Given the description of an element on the screen output the (x, y) to click on. 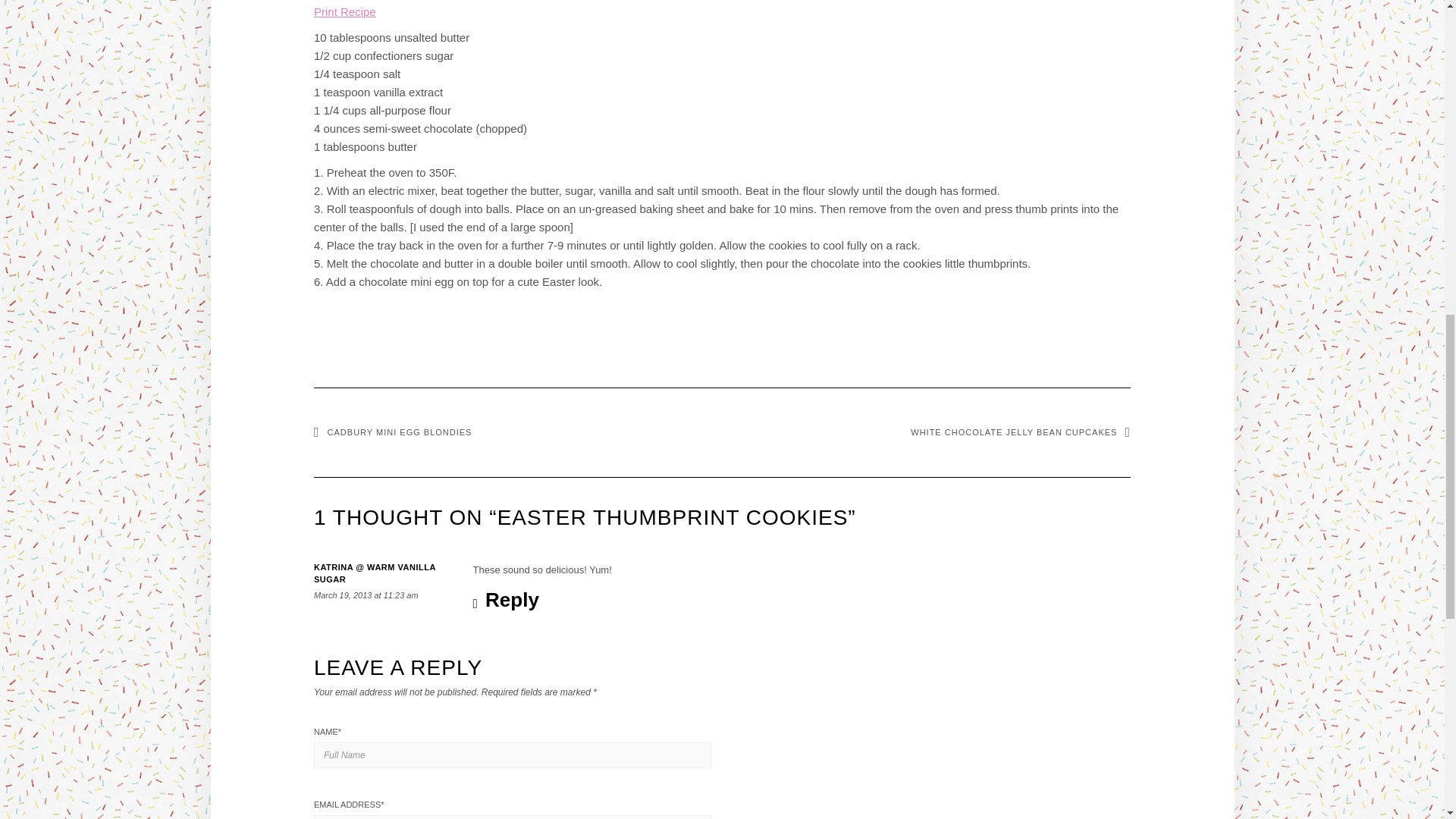
CADBURY MINI EGG BLONDIES (392, 431)
WHITE CHOCOLATE JELLY BEAN CUPCAKES (1021, 431)
Reply (505, 600)
March 19, 2013 at 11:23 am (366, 594)
Print Recipe (344, 11)
Print Recipe (344, 11)
